Given the description of an element on the screen output the (x, y) to click on. 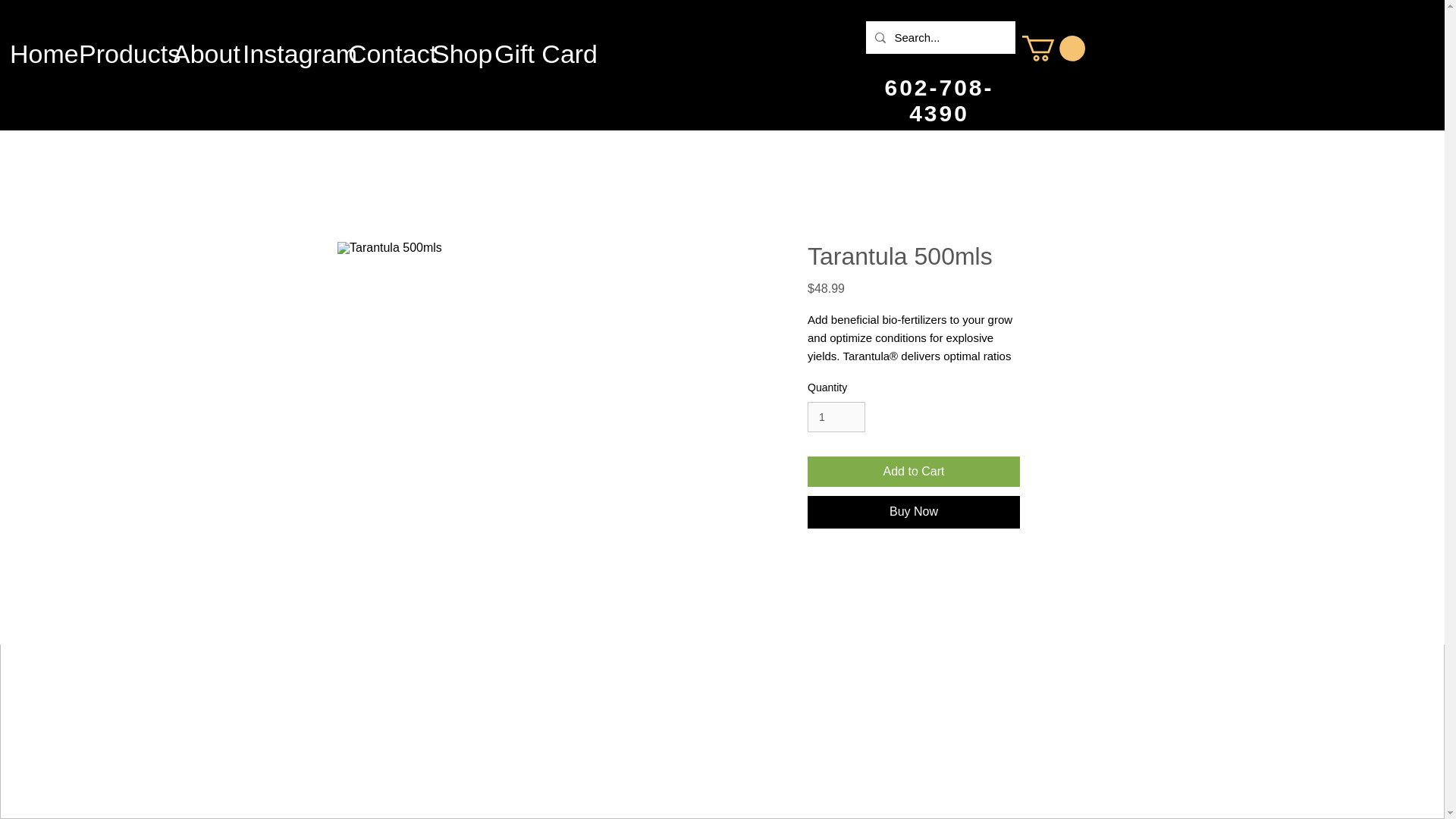
Contact (379, 45)
Instagram (284, 45)
Shop (453, 45)
1 (836, 417)
About (197, 45)
Products (115, 45)
Home (34, 45)
